Given the description of an element on the screen output the (x, y) to click on. 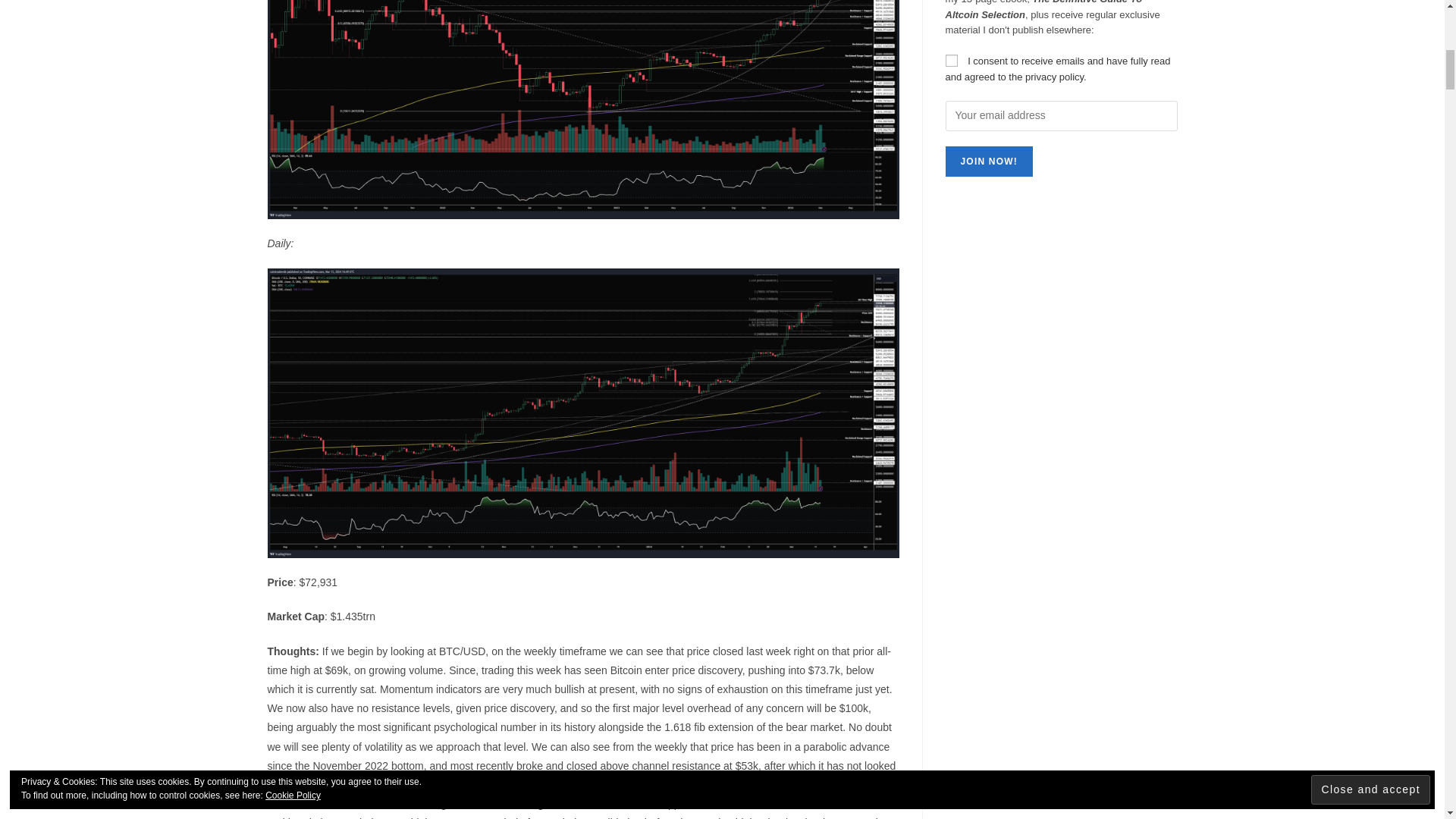
Join Now! (988, 161)
1 (950, 60)
